Given the description of an element on the screen output the (x, y) to click on. 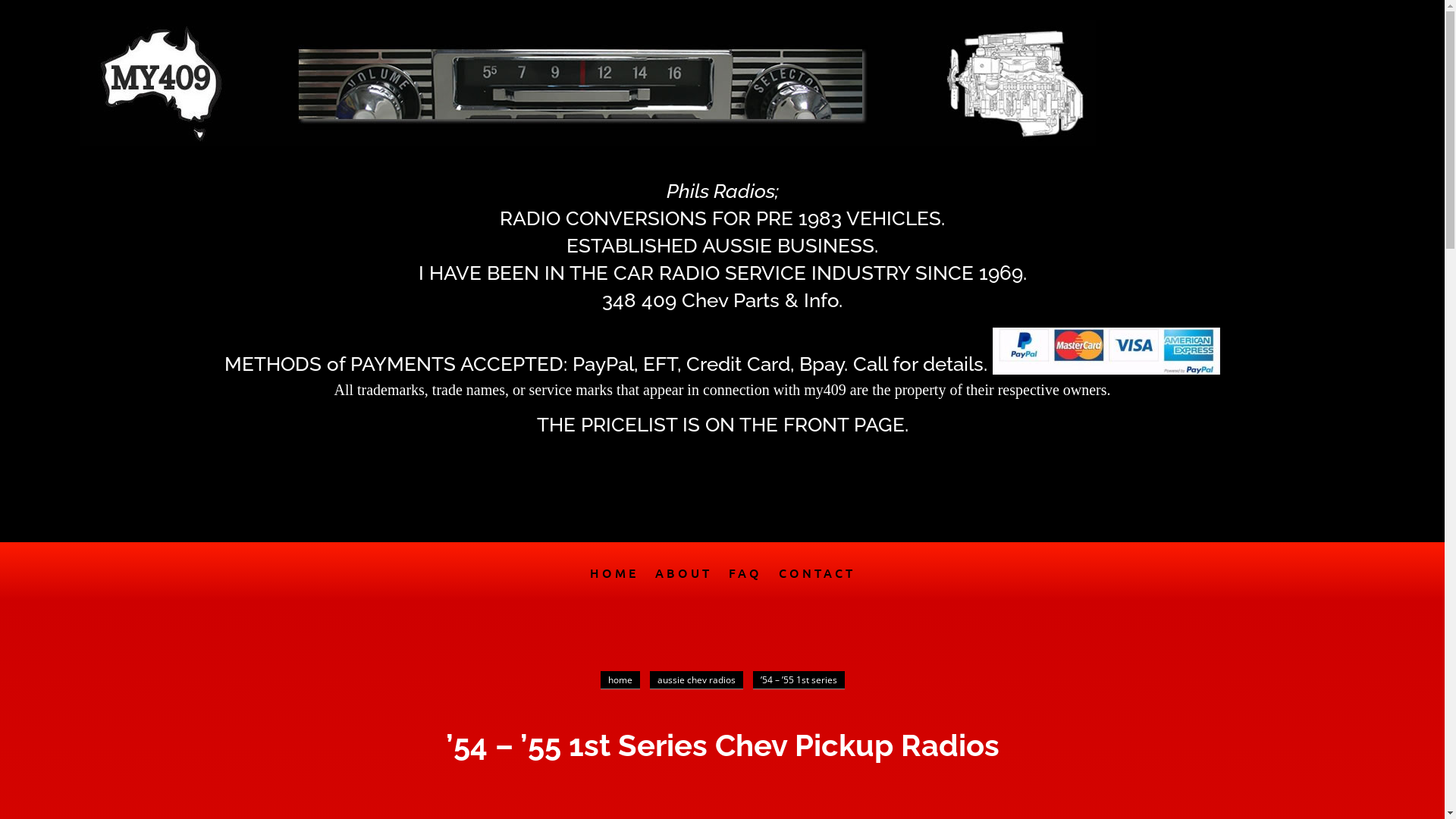
aussie chev radios Element type: text (695, 680)
FAQ Element type: text (744, 583)
ABOUT Element type: text (683, 583)
CONTACT Element type: text (816, 583)
home Element type: text (620, 680)
HOME Element type: text (613, 583)
